Given the description of an element on the screen output the (x, y) to click on. 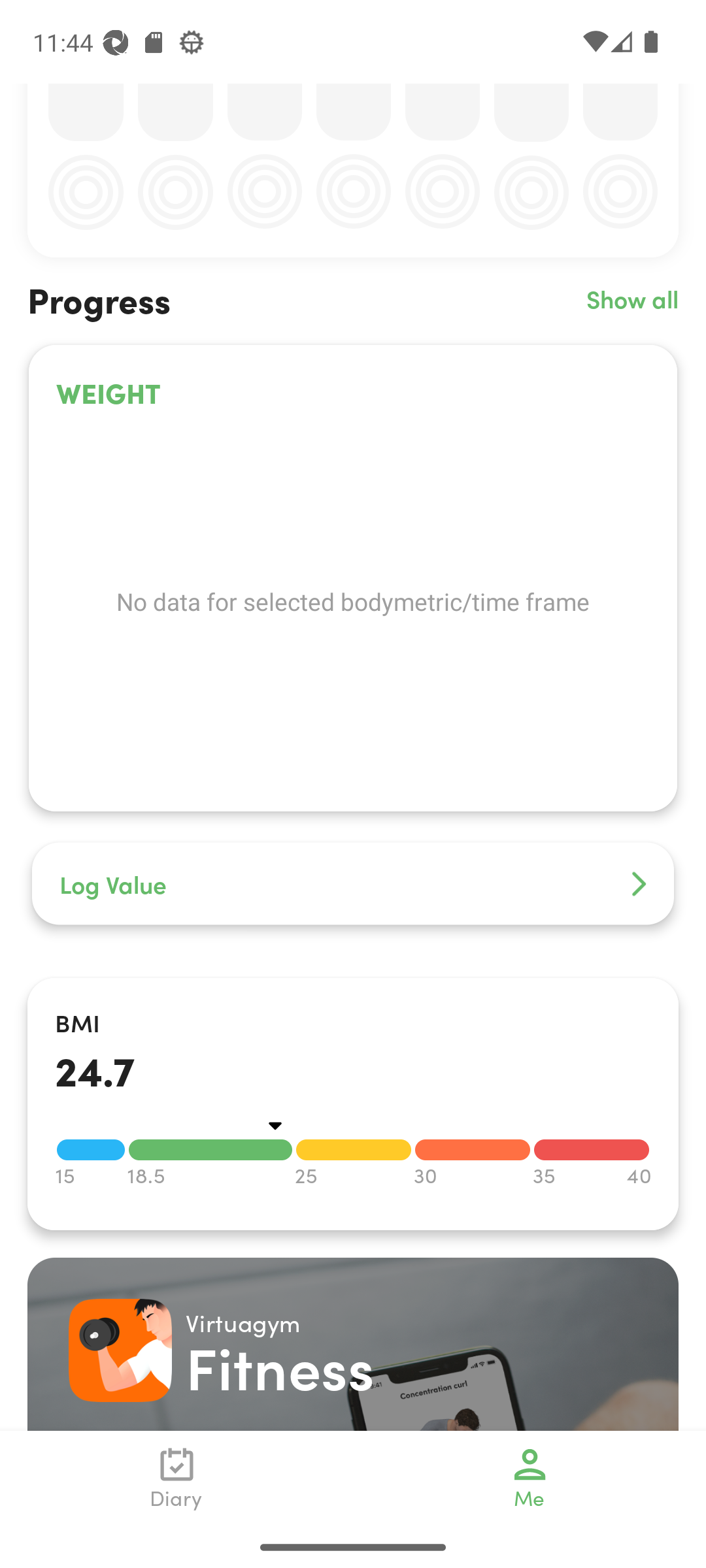
Progress Show all WEIGHT Log Value (353, 617)
Log Value (352, 883)
Diary navigation_icon (176, 1478)
